Given the description of an element on the screen output the (x, y) to click on. 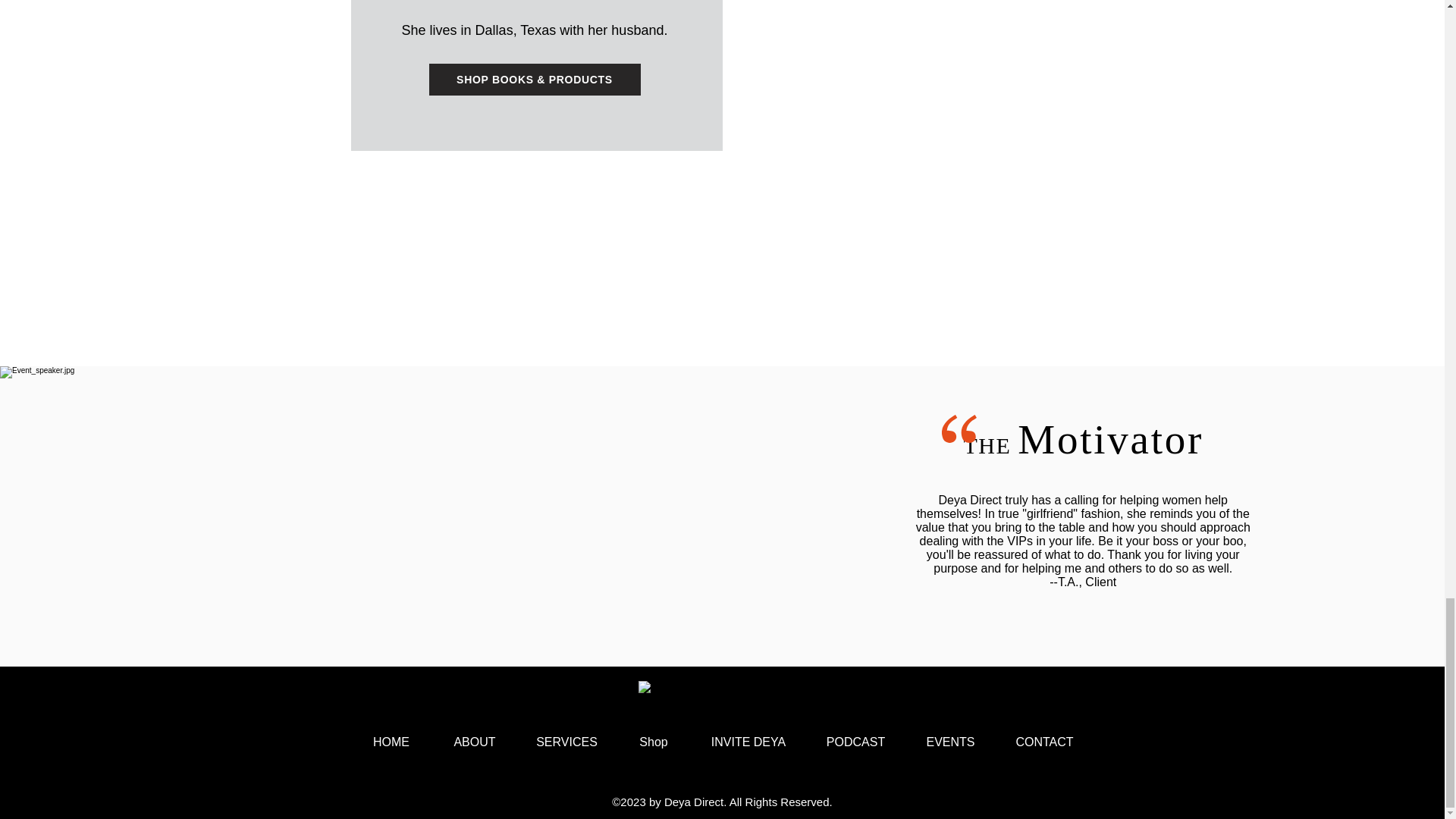
CONTACT (1043, 742)
PODCAST (855, 742)
INVITE DEYA (748, 742)
ABOUT (475, 742)
HOME (390, 742)
Shop (652, 742)
EVENTS (949, 742)
SERVICES (565, 742)
